Given the description of an element on the screen output the (x, y) to click on. 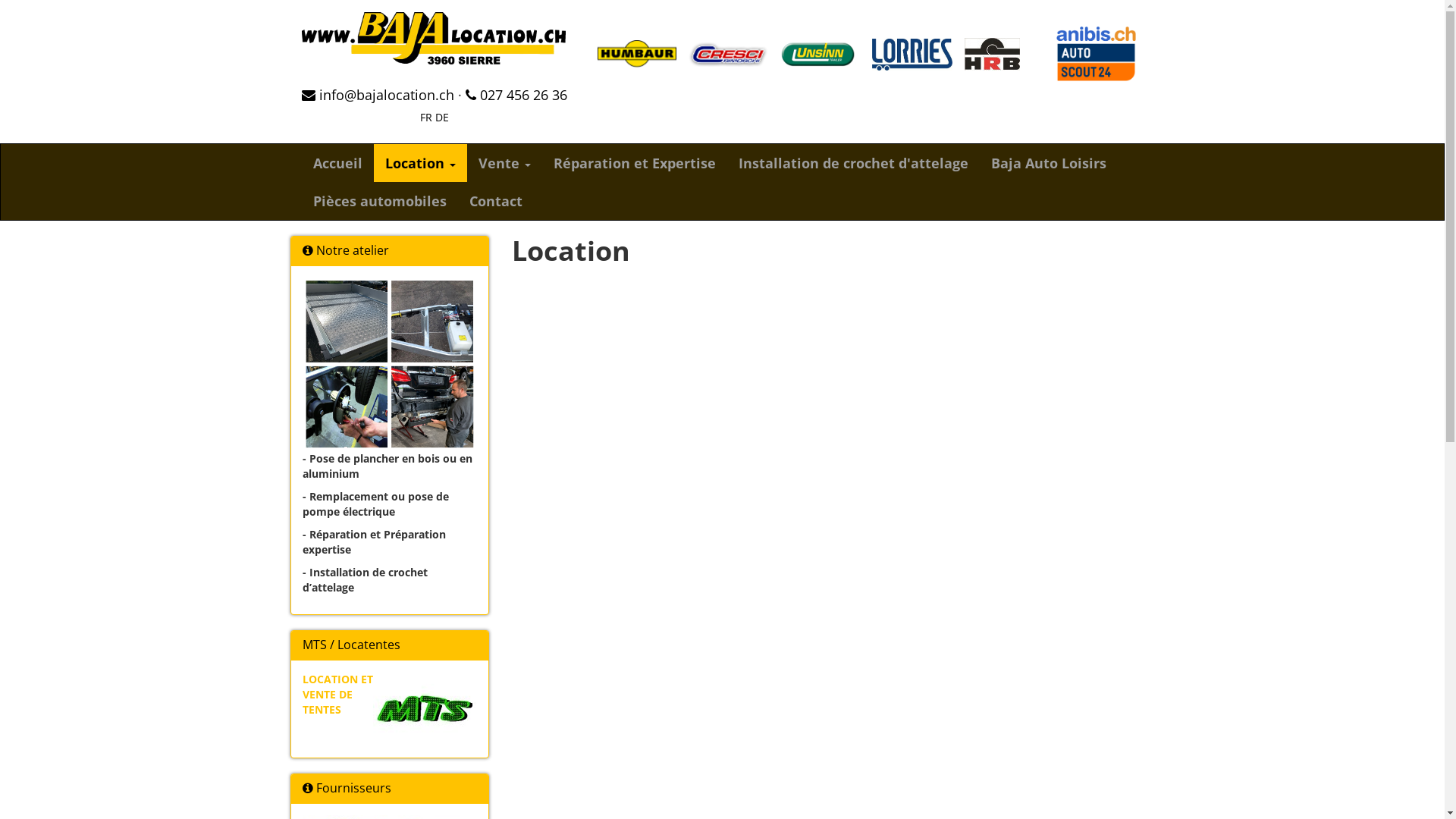
Accueil Element type: text (337, 163)
LOCATION ET VENTE DE TENTES Element type: text (336, 693)
info@bajalocation.ch Element type: text (377, 94)
Baja Auto Loisirs Element type: text (1048, 163)
DE Element type: text (441, 116)
Contact Element type: text (495, 200)
FR Element type: text (426, 116)
Installation de crochet d'attelage Element type: text (852, 163)
Location Element type: text (419, 163)
Vente Element type: text (504, 163)
027 456 26 36 Element type: text (516, 94)
